Given the description of an element on the screen output the (x, y) to click on. 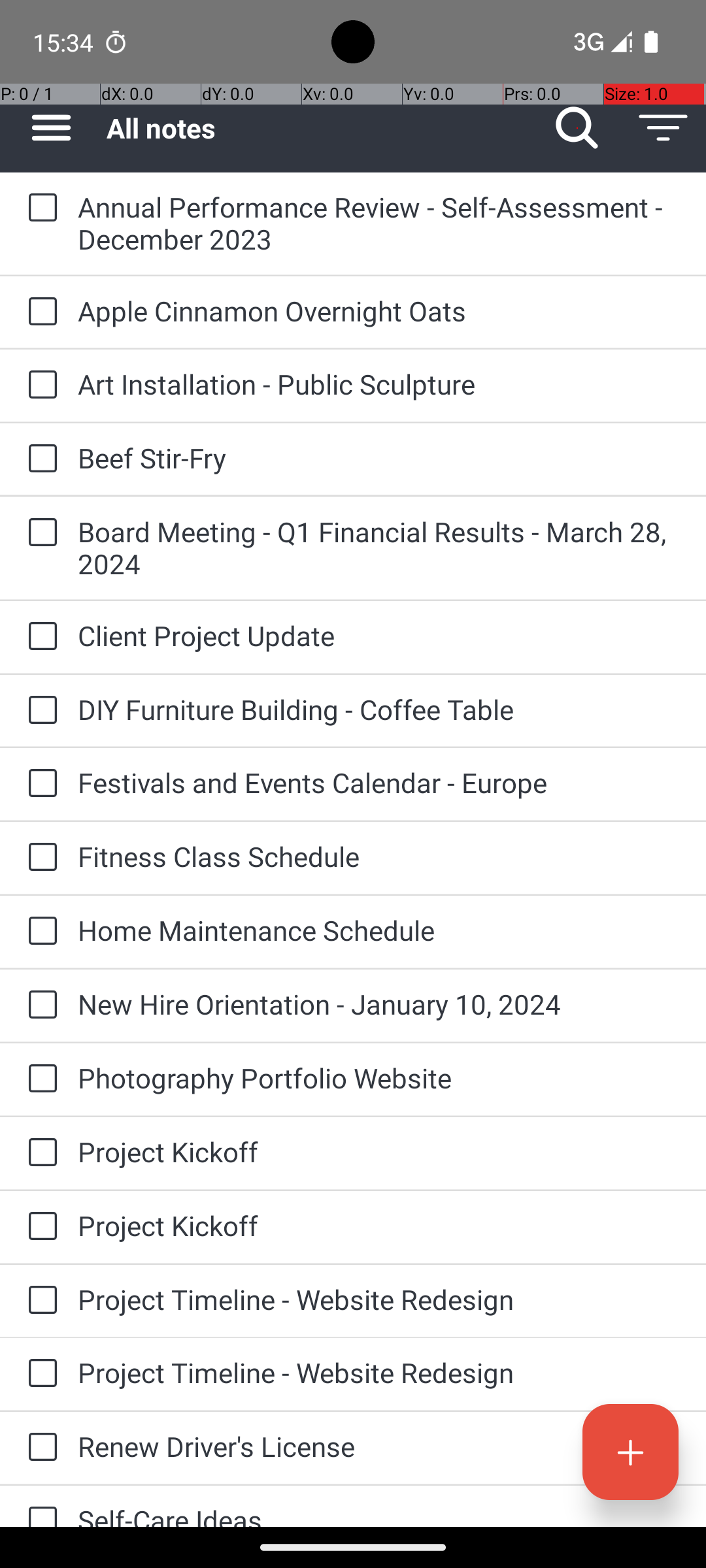
to-do: Apple Cinnamon Overnight Oats Element type: android.widget.CheckBox (38, 312)
to-do: Art Installation - Public Sculpture Element type: android.widget.CheckBox (38, 385)
Art Installation - Public Sculpture Element type: android.widget.TextView (378, 383)
to-do: Beef Stir-Fry Element type: android.widget.CheckBox (38, 459)
to-do: Client Project Update Element type: android.widget.CheckBox (38, 637)
Client Project Update Element type: android.widget.TextView (378, 634)
to-do: DIY Furniture Building - Coffee Table Element type: android.widget.CheckBox (38, 710)
DIY Furniture Building - Coffee Table Element type: android.widget.TextView (378, 708)
to-do: Festivals and Events Calendar - Europe Element type: android.widget.CheckBox (38, 783)
Festivals and Events Calendar - Europe Element type: android.widget.TextView (378, 781)
to-do: Photography Portfolio Website Element type: android.widget.CheckBox (38, 1079)
Photography Portfolio Website Element type: android.widget.TextView (378, 1077)
to-do: Renew Driver's License Element type: android.widget.CheckBox (38, 1447)
to-do: Self-Care Ideas Element type: android.widget.CheckBox (38, 1505)
